Given the description of an element on the screen output the (x, y) to click on. 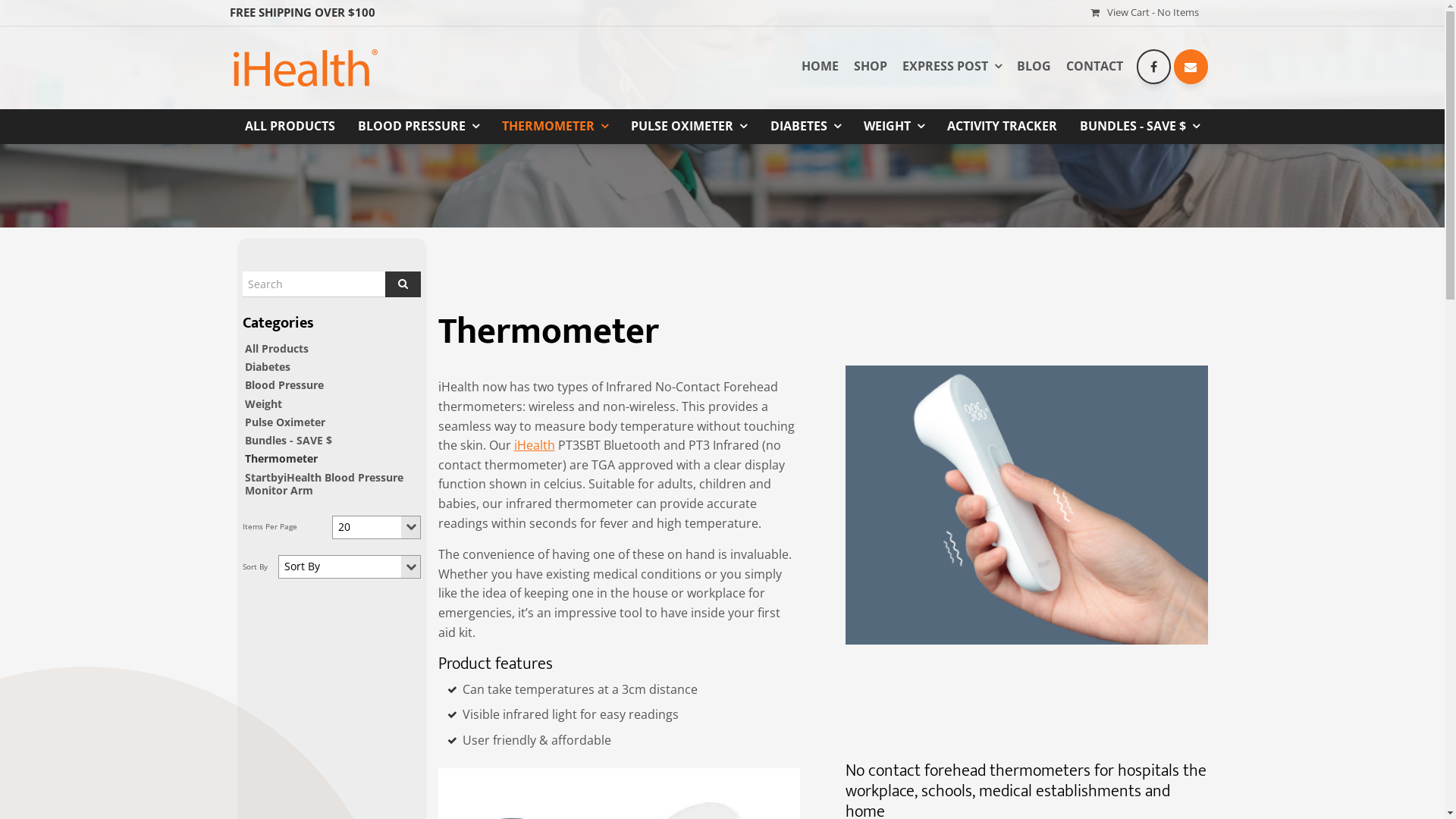
EXPRESS POST Element type: text (951, 66)
THERMOMETER Element type: text (554, 126)
Bundles - SAVE $ Element type: text (331, 439)
SHOP Element type: text (870, 66)
View Cart - No Items Element type: text (1144, 12)
BLOG Element type: text (1033, 66)
Pulse Oximeter Element type: text (331, 421)
DIABETES Element type: text (805, 126)
ACTIVITY TRACKER Element type: text (1001, 126)
BUNDLES - SAVE $ Element type: text (1139, 126)
Thermometer Element type: text (331, 458)
WEIGHT Element type: text (893, 126)
StartbyiHealth Blood Pressure Monitor Arm Element type: text (331, 483)
CONTACT Element type: text (1094, 66)
BLOOD PRESSURE Element type: text (418, 126)
Diabetes Element type: text (331, 366)
All Products Element type: text (331, 348)
Blood Pressure Element type: text (331, 384)
HOME Element type: text (819, 66)
Weight Element type: text (331, 403)
iHealth Element type: text (534, 444)
PULSE OXIMETER Element type: text (688, 126)
ALL PRODUCTS Element type: text (289, 126)
